Given the description of an element on the screen output the (x, y) to click on. 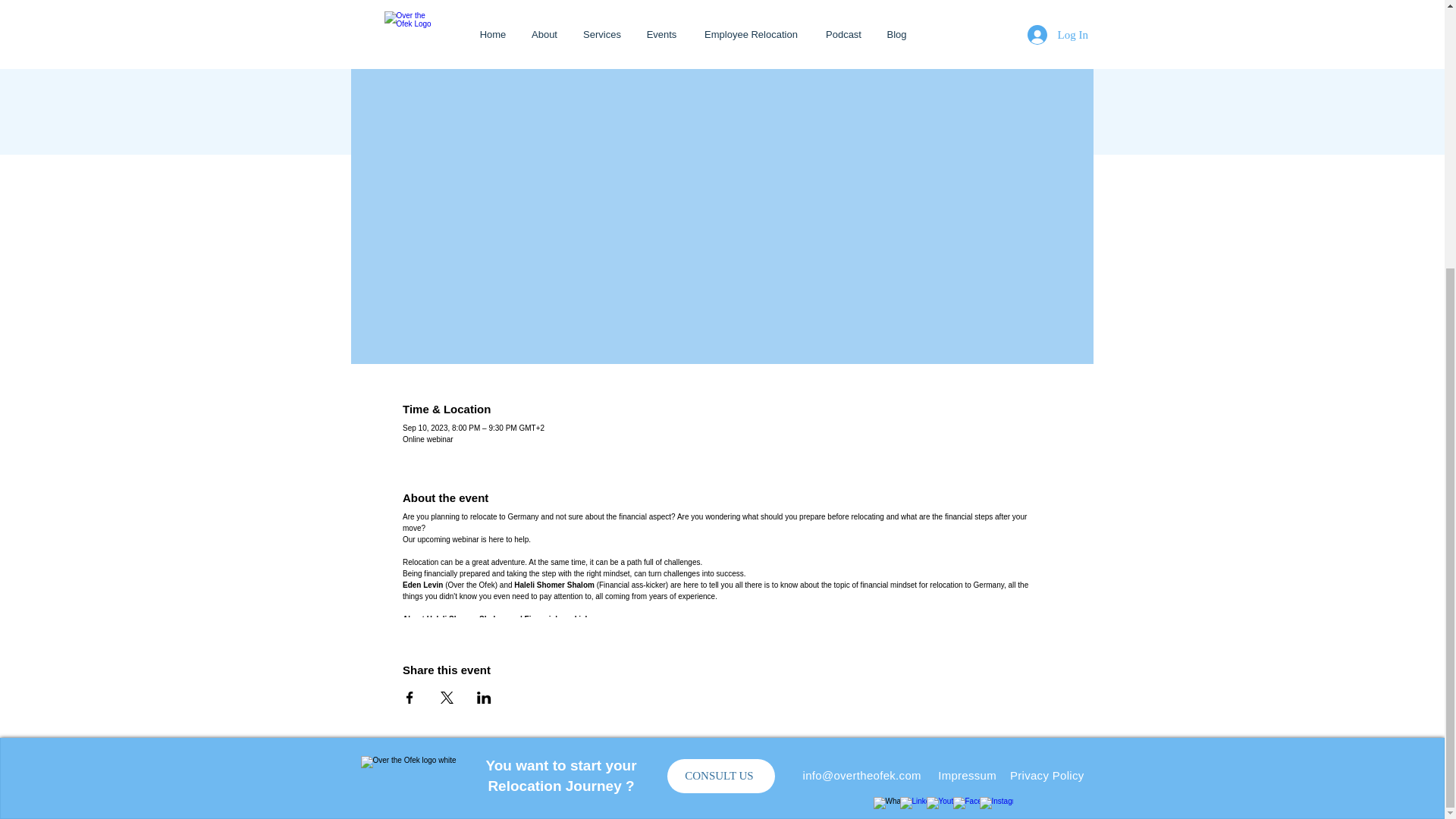
Impressum (966, 775)
Privacy Policy (1047, 775)
CONSULT US (720, 776)
